Given the description of an element on the screen output the (x, y) to click on. 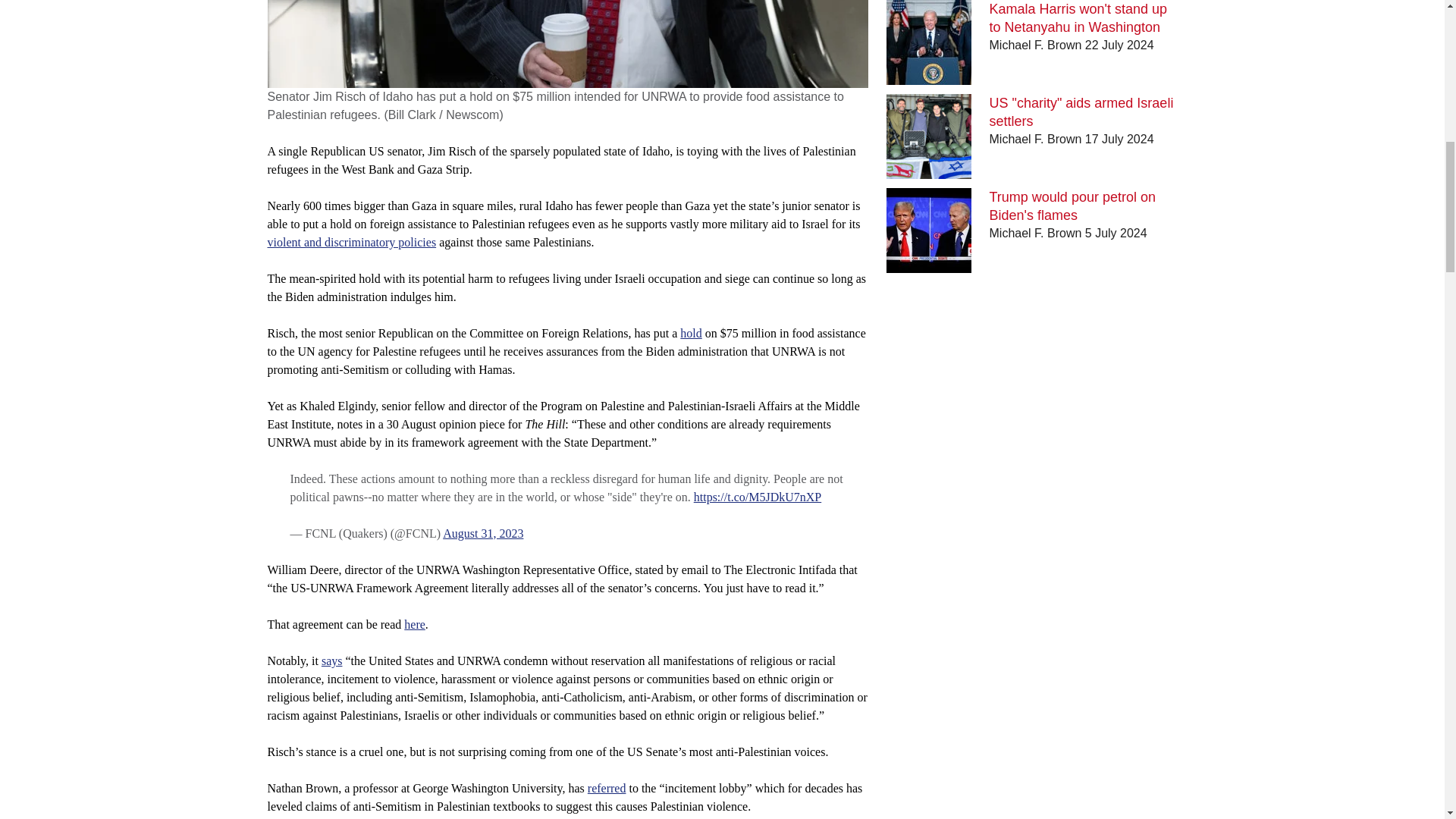
hold (690, 332)
says (331, 660)
violent and discriminatory policies (350, 241)
August 31, 2023 (482, 533)
here (414, 624)
referred (607, 788)
